Given the description of an element on the screen output the (x, y) to click on. 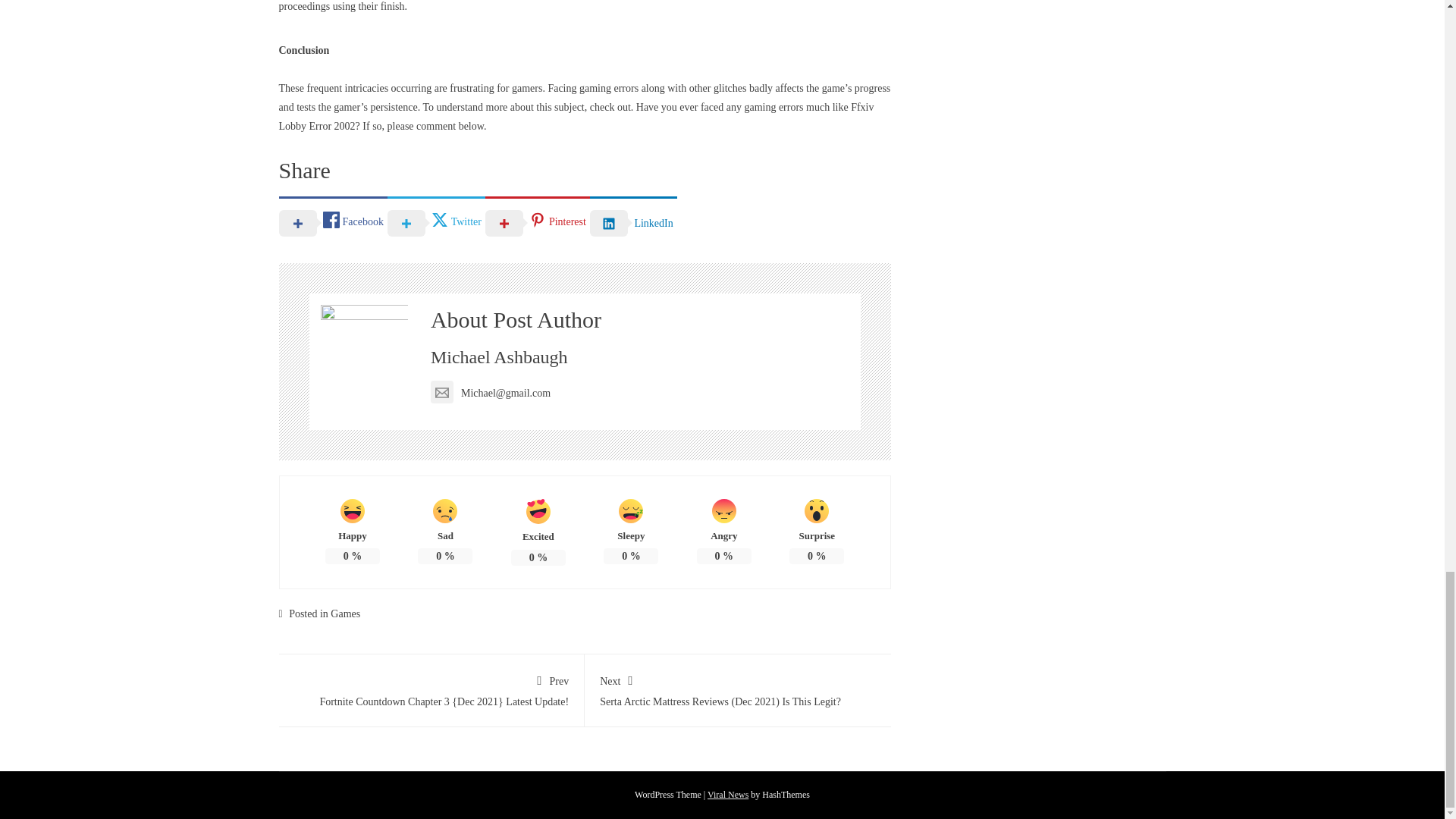
Facebook (333, 222)
Pinterest (536, 222)
LinkedIn (633, 222)
Twitter (435, 222)
Michael Ashbaugh (498, 356)
Games (344, 613)
